Given the description of an element on the screen output the (x, y) to click on. 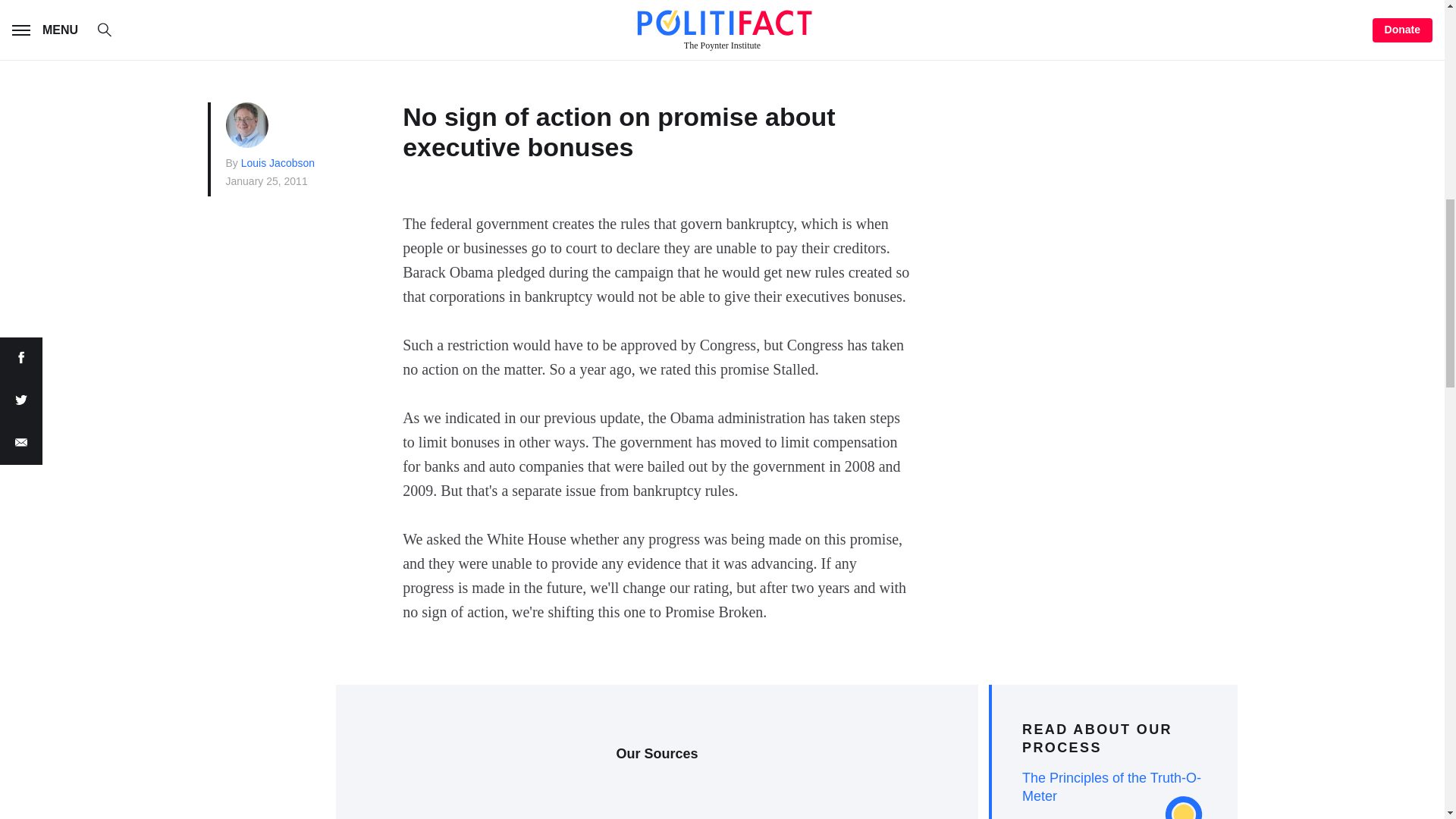
Bankruptcy (338, 32)
Corporations (456, 32)
Barack Obama (593, 32)
